Given the description of an element on the screen output the (x, y) to click on. 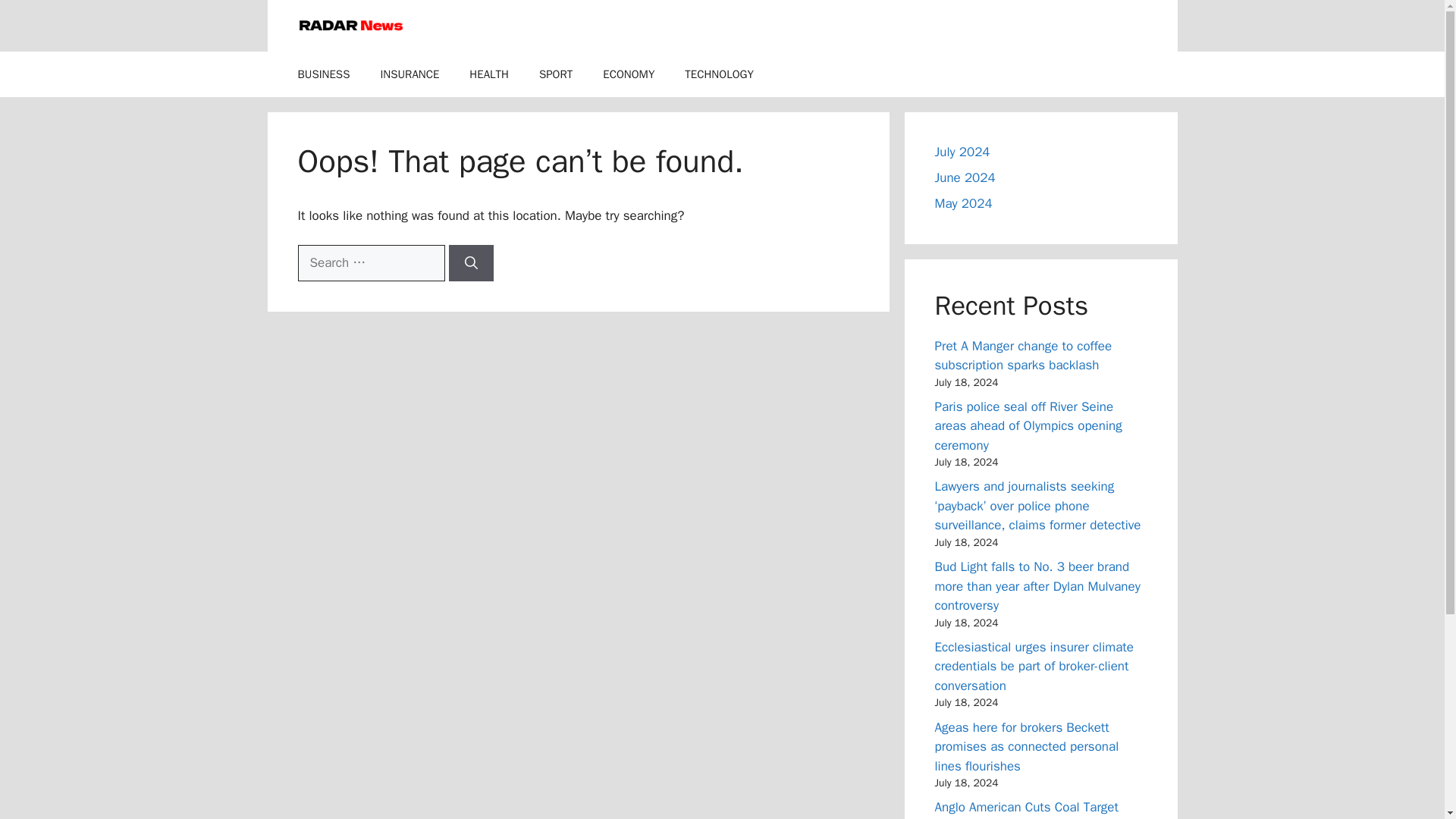
May 2024 (962, 203)
Anglo American Cuts Coal Target Following Fire Incident (1026, 809)
June 2024 (964, 177)
SPORT (556, 74)
ECONOMY (628, 74)
Search for: (370, 262)
Pret A Manger change to coffee subscription sparks backlash (1023, 355)
INSURANCE (409, 74)
BUSINESS (323, 74)
July 2024 (962, 151)
HEALTH (489, 74)
TECHNOLOGY (718, 74)
